Given the description of an element on the screen output the (x, y) to click on. 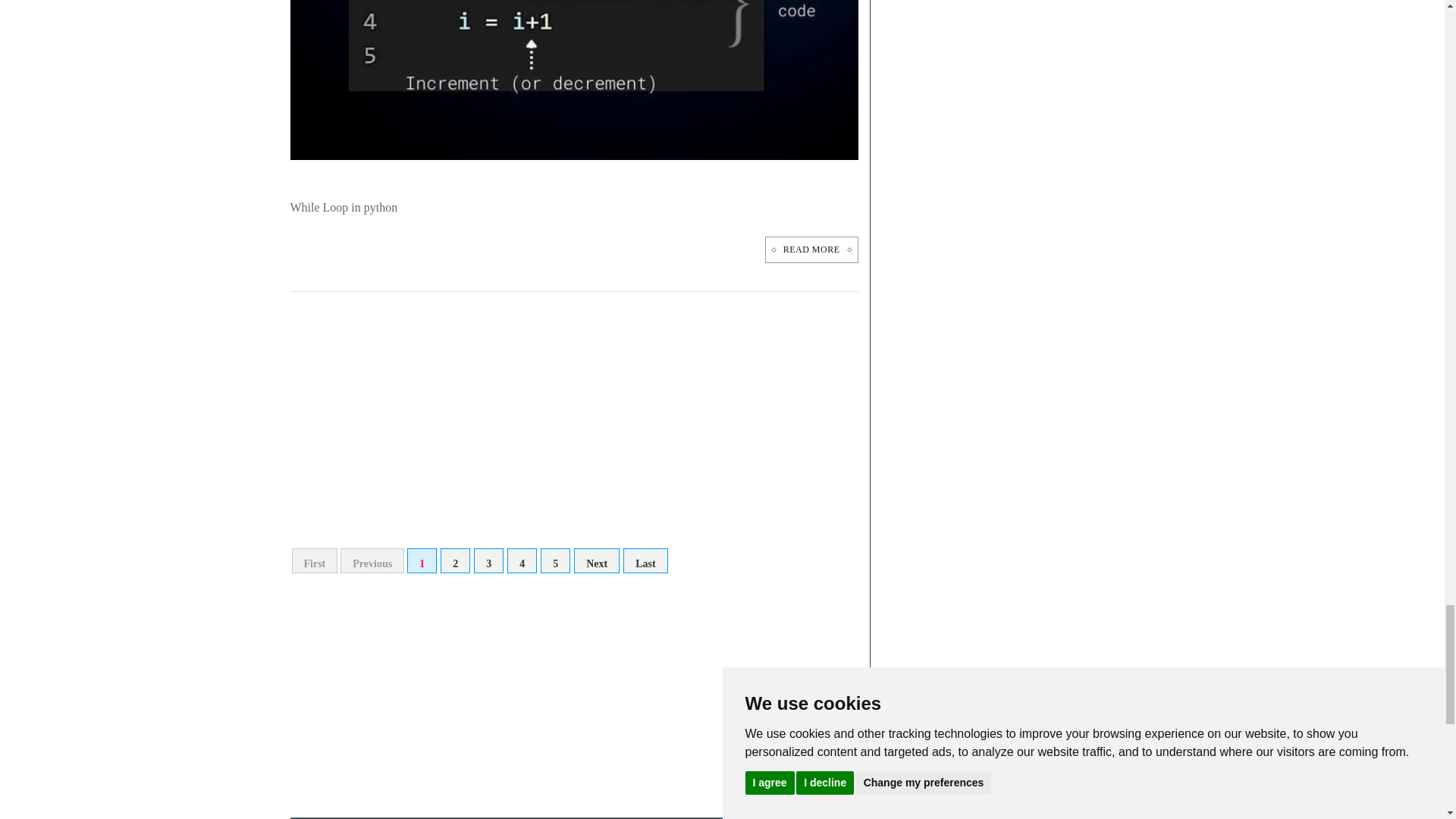
3 (488, 560)
4 (521, 560)
Next (596, 560)
Last (644, 560)
READ MORE (812, 249)
5 (555, 560)
2 (455, 560)
